Given the description of an element on the screen output the (x, y) to click on. 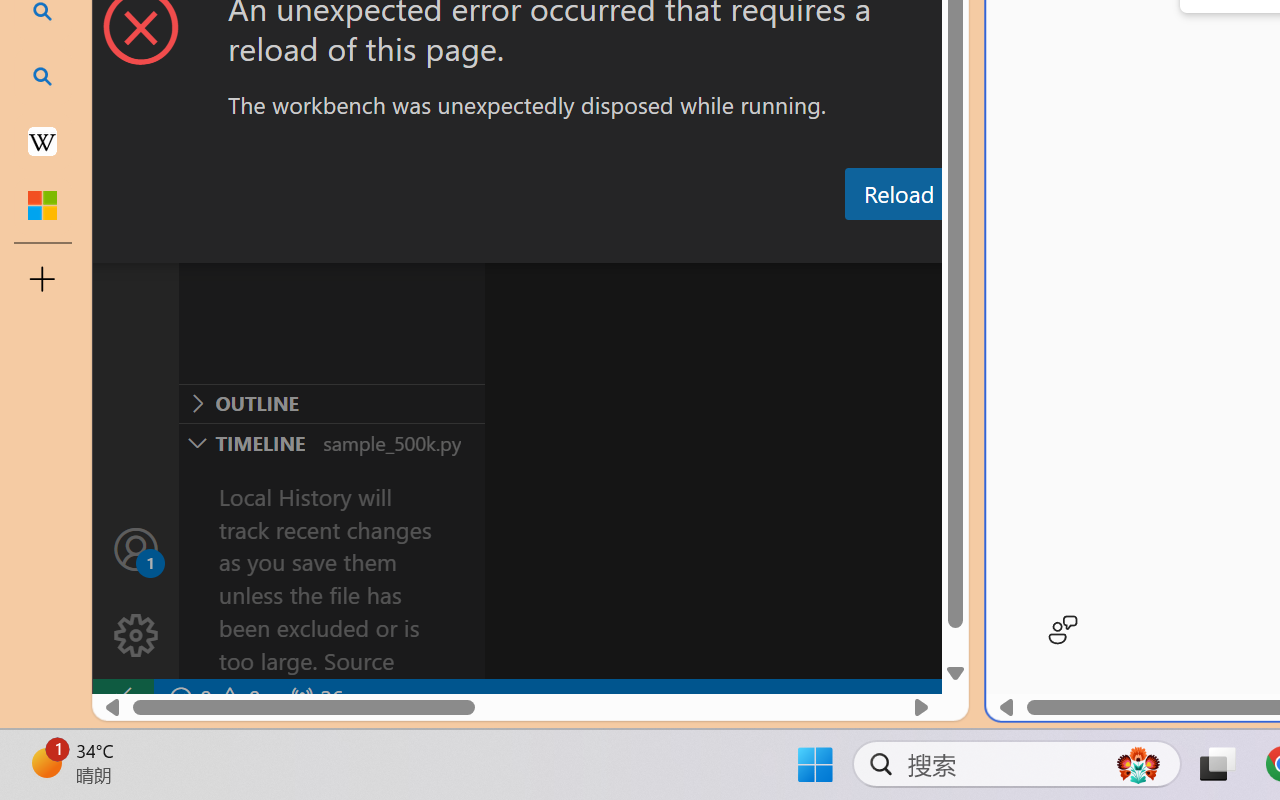
Problems (Ctrl+Shift+M) (567, 243)
No Problems (212, 698)
Reload (898, 193)
Outline Section (331, 403)
Manage (135, 591)
remote (122, 698)
